Given the description of an element on the screen output the (x, y) to click on. 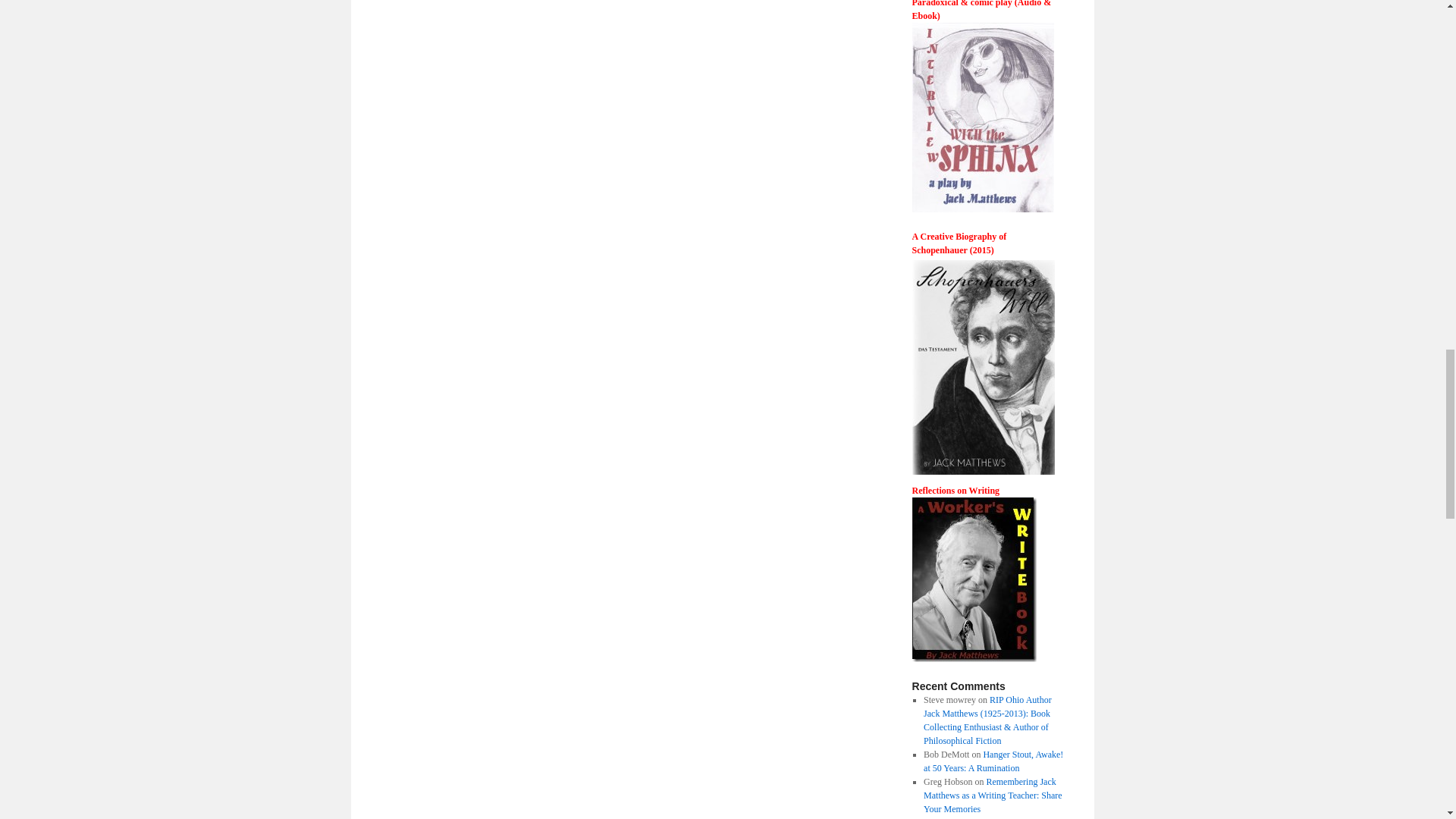
Hanger Stout, Awake! at 50 Years: A Rumination (992, 761)
